Given the description of an element on the screen output the (x, y) to click on. 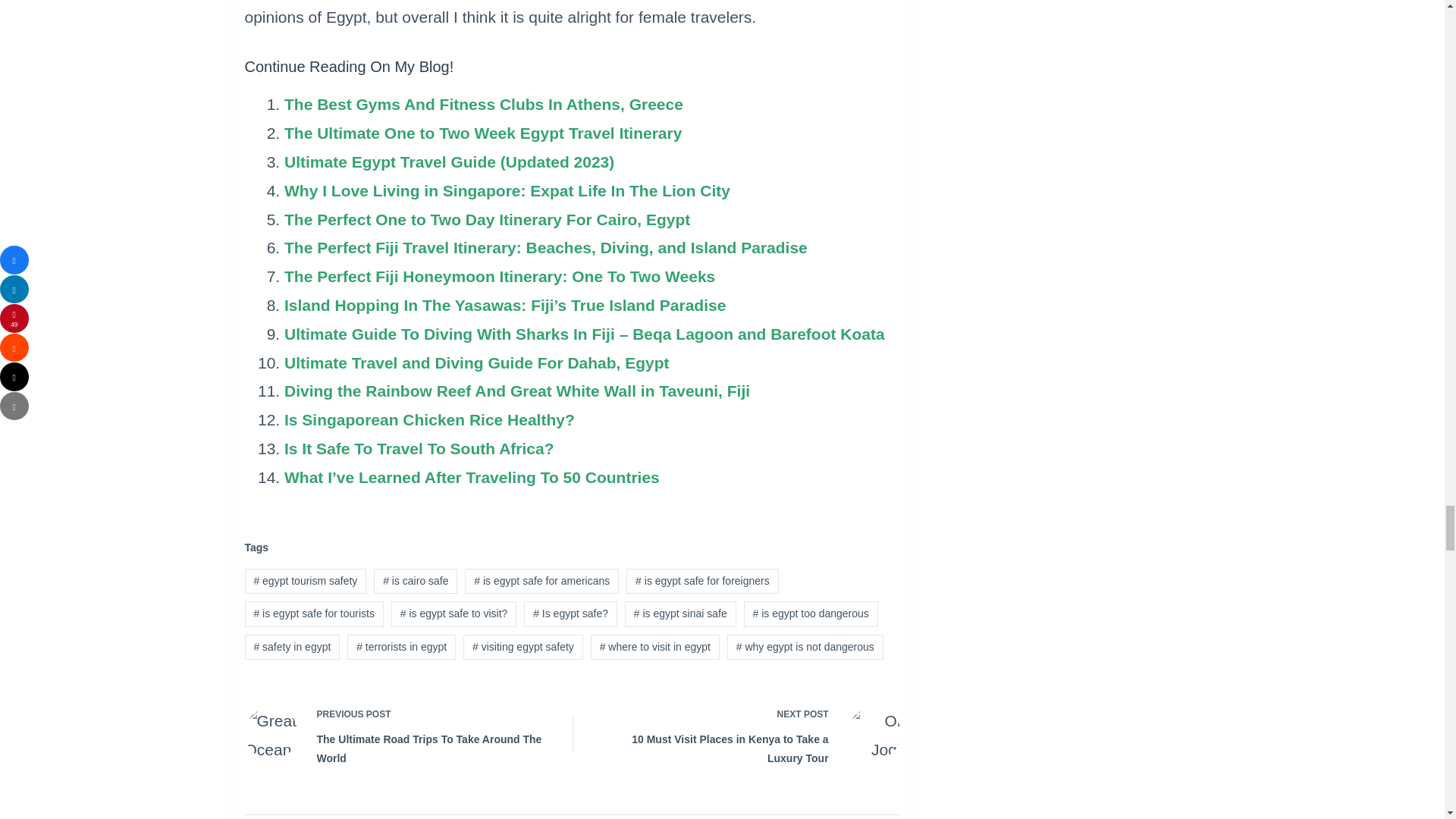
The Ultimate One to Two Week Egypt Travel Itinerary (482, 132)
The Perfect One to Two Day Itinerary For Cairo, Egypt (486, 219)
The Perfect Fiji Honeymoon Itinerary: One To Two Weeks (498, 276)
The Best Gyms And Fitness Clubs In Athens, Greece (482, 104)
Why I Love Living in Singapore: Expat Life In The Lion City (506, 190)
